Given the description of an element on the screen output the (x, y) to click on. 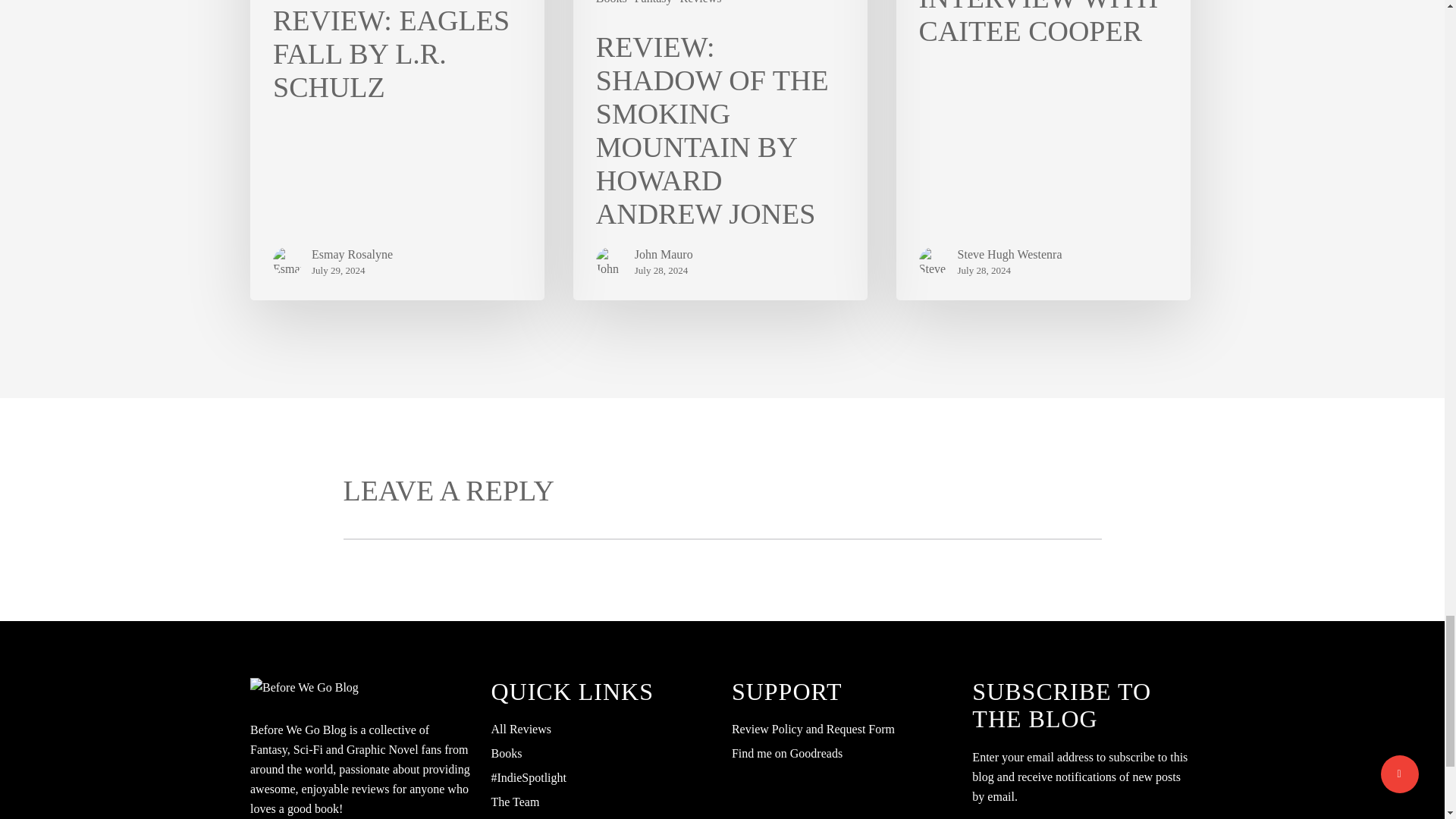
Fantasy (653, 3)
Books (611, 3)
Review: Eagles Fall by L.R. Schulz (397, 149)
Esmay Rosalyne (352, 254)
